Given the description of an element on the screen output the (x, y) to click on. 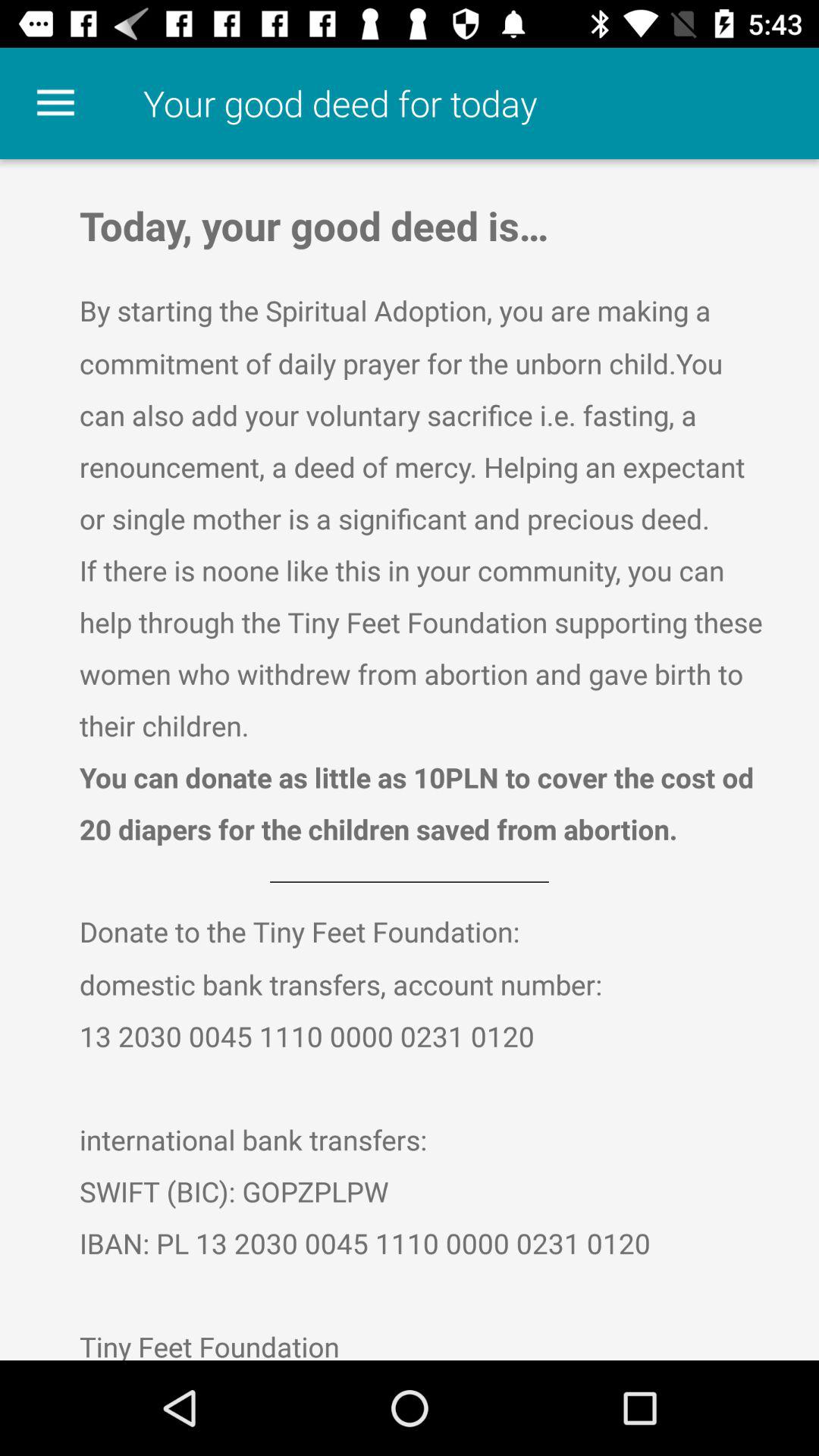
tap the icon next to your good deed icon (55, 103)
